Given the description of an element on the screen output the (x, y) to click on. 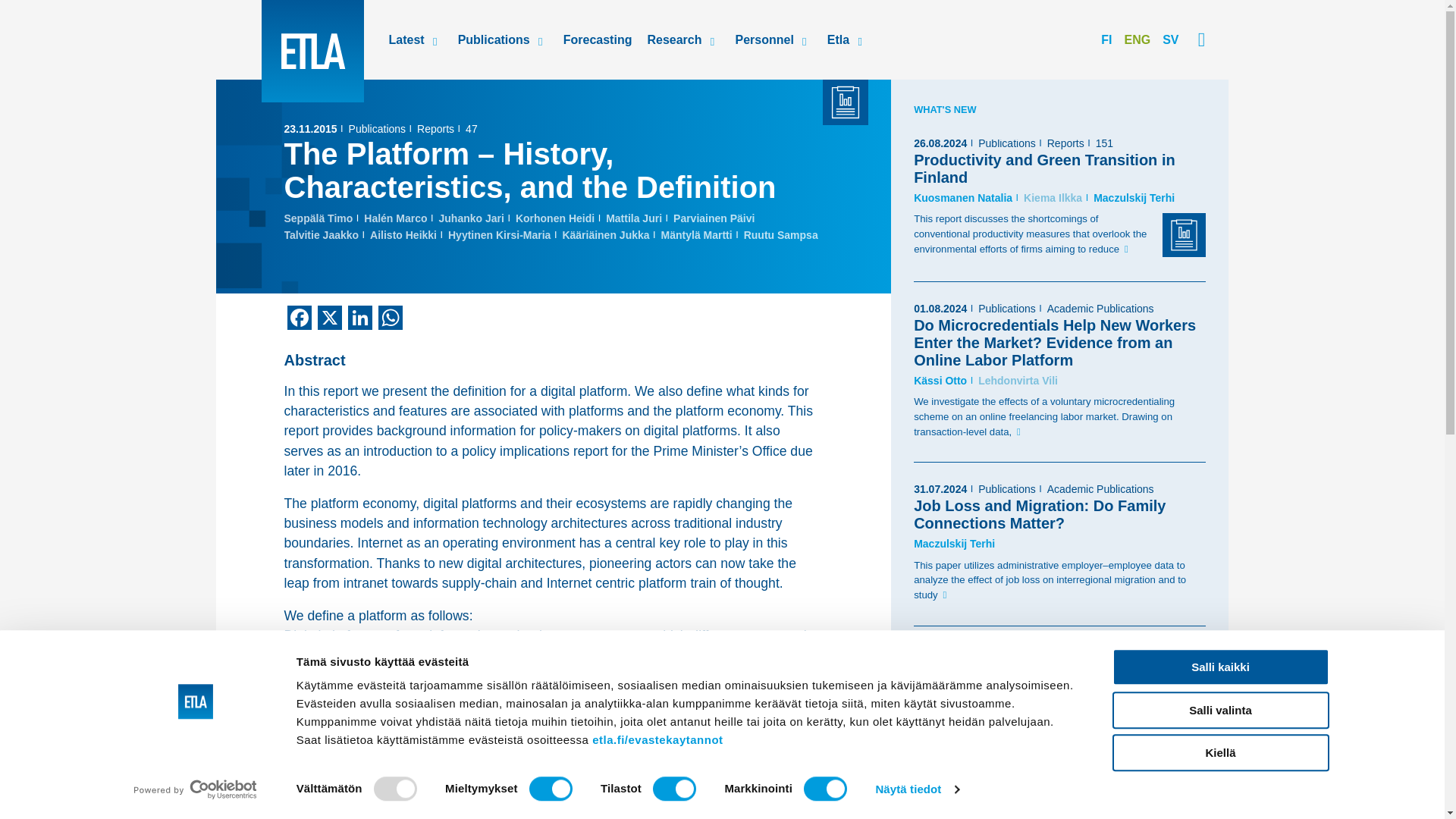
Facebook (298, 319)
Etla (311, 51)
LinkedIn (358, 319)
X (328, 319)
WhatsApp (389, 319)
Eng (1137, 39)
